Given the description of an element on the screen output the (x, y) to click on. 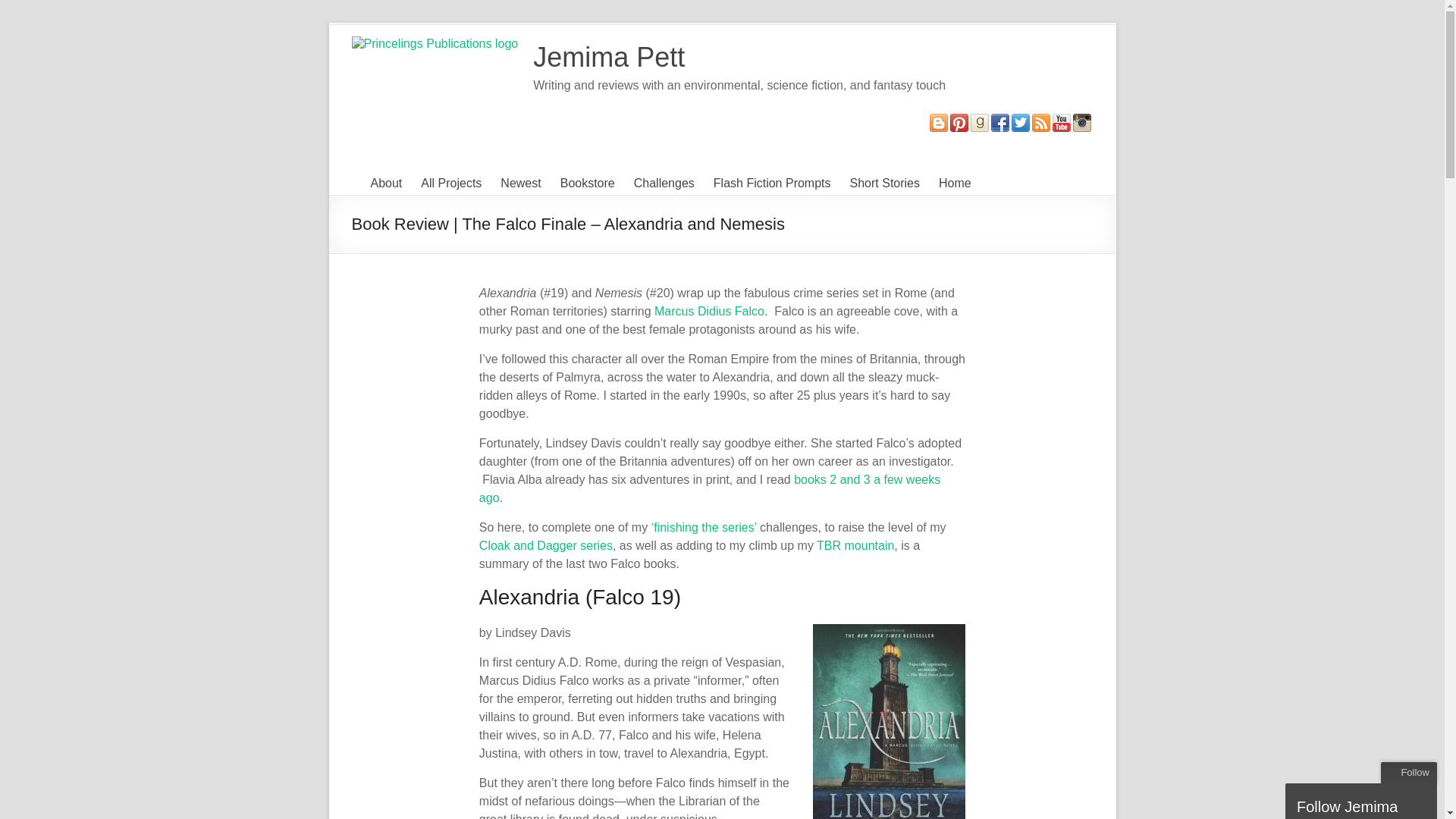
Connect on Facebook (999, 120)
Bookstore (587, 182)
Jemima Pett (608, 56)
YouTube Channel (1061, 120)
jemima.pett on Instagram (1080, 120)
Goodreads (979, 120)
Jemima Pett (608, 56)
jemimapett on Pinterest (958, 120)
About (385, 182)
Newest (520, 182)
Blogger Blog (938, 120)
Subscribe to RSS Feed (1039, 120)
All Projects (450, 182)
